Given the description of an element on the screen output the (x, y) to click on. 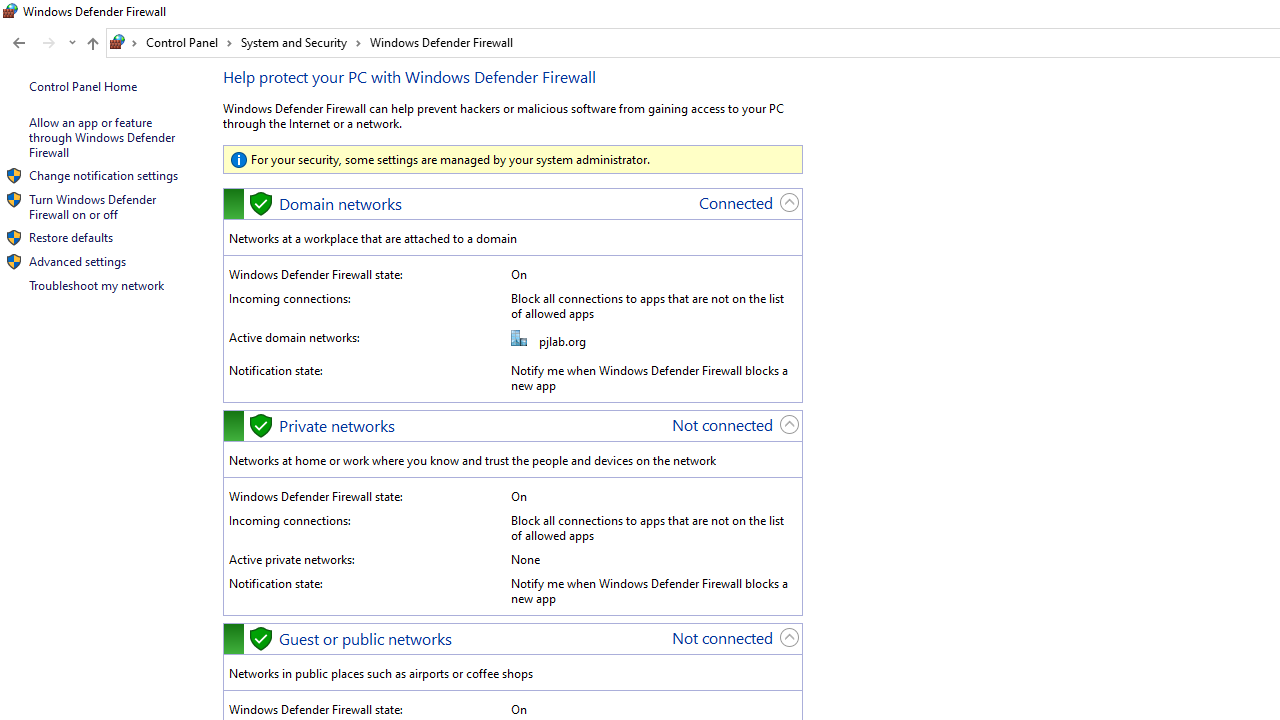
Recent locations (71, 43)
Control Panel Home (82, 86)
Connected (735, 202)
Forward (Alt + Right Arrow) (49, 43)
Navigation buttons (41, 43)
Not connected (721, 637)
Windows Defender Firewall (441, 42)
